Given the description of an element on the screen output the (x, y) to click on. 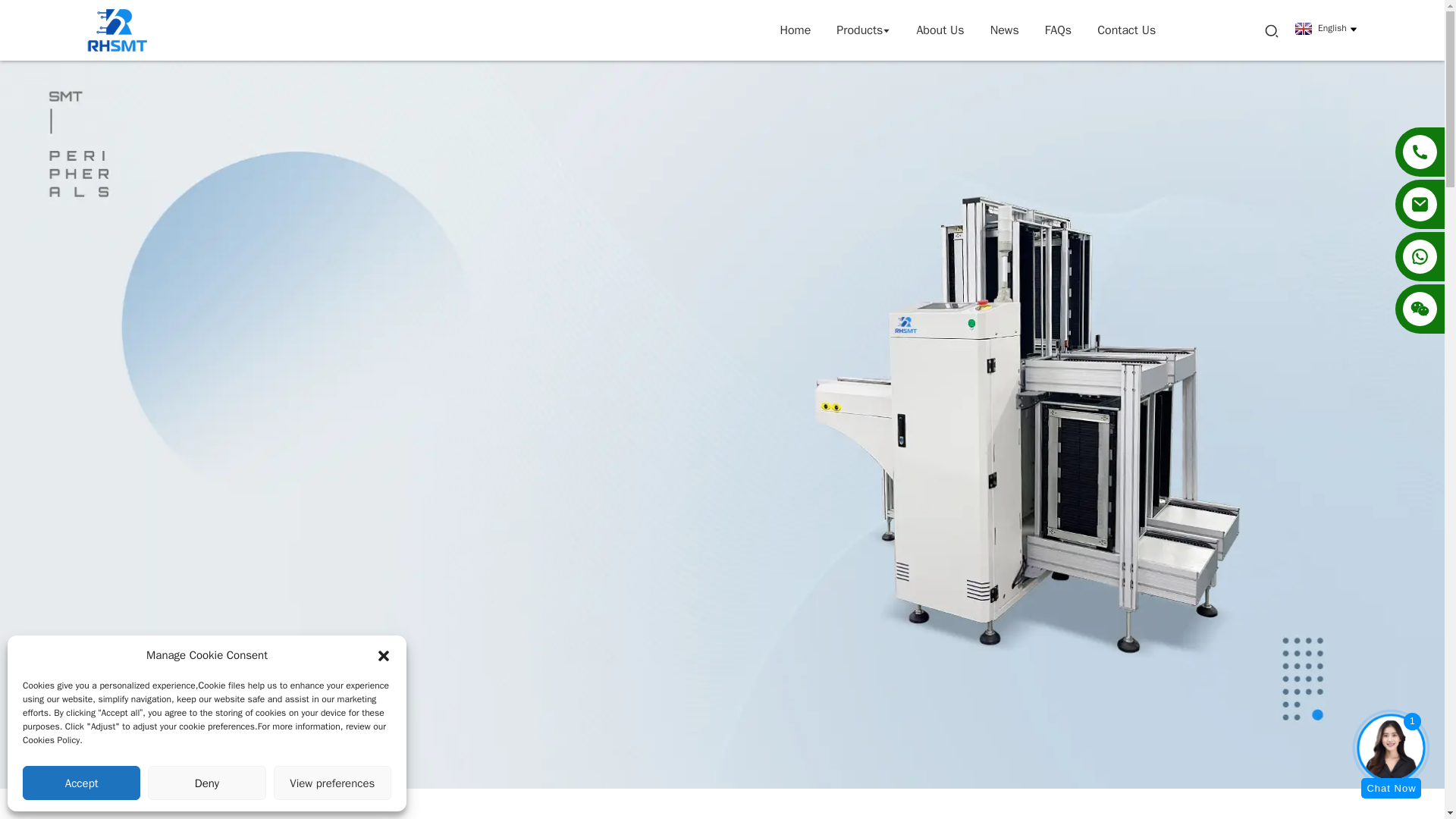
About Us (939, 30)
products (863, 30)
Products (863, 30)
Contact Us (1125, 30)
